Given the description of an element on the screen output the (x, y) to click on. 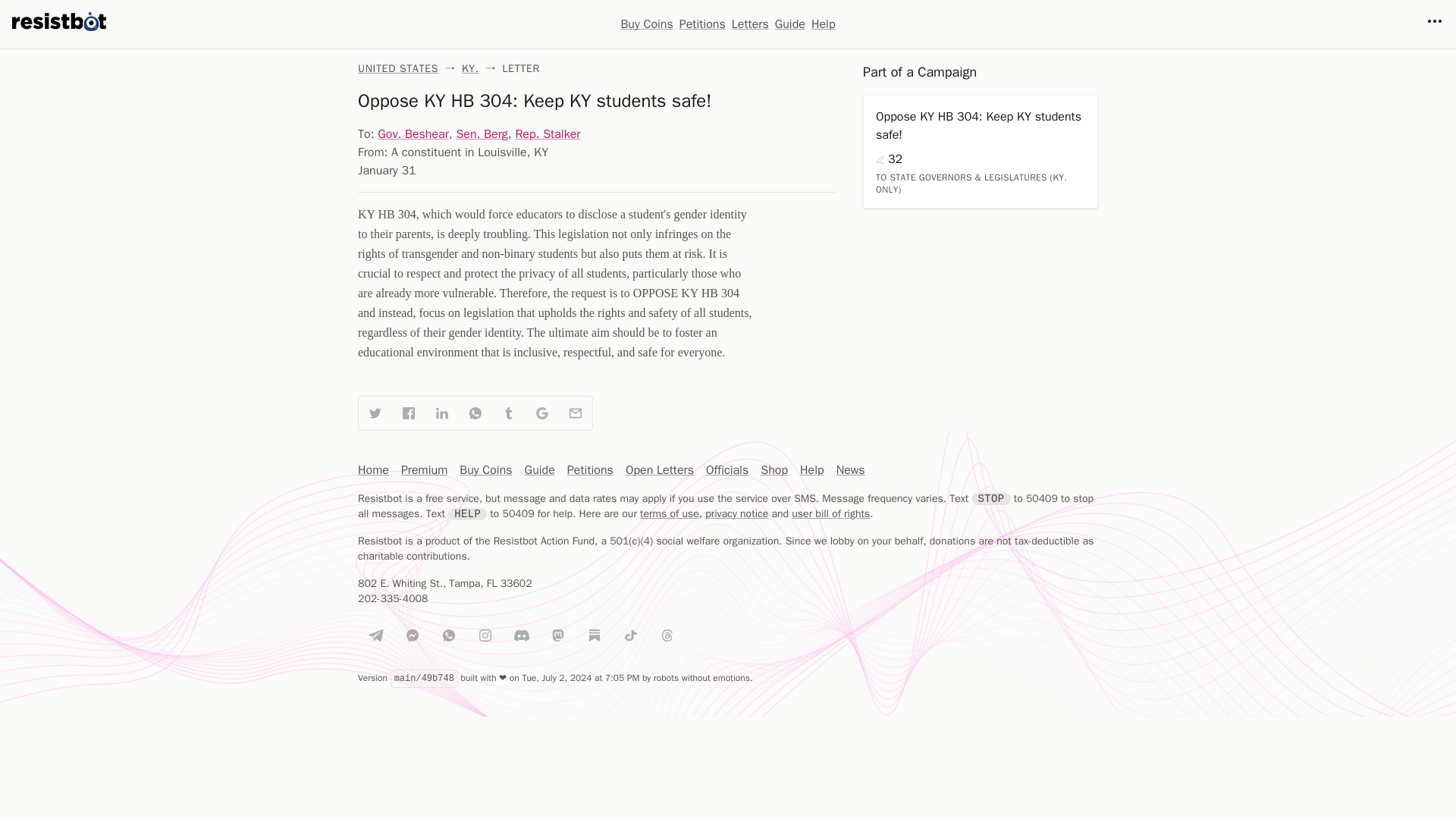
Guide (789, 24)
KY. (470, 68)
Petitions (702, 24)
Sen. Berg (480, 133)
privacy notice (736, 513)
News (849, 470)
Gov. Beshear (412, 133)
Signers (880, 159)
Premium (423, 470)
terms of use (669, 513)
Help (811, 470)
Officials (727, 470)
user bill of rights (830, 513)
UNITED STATES (398, 68)
Buy Coins (486, 470)
